Given the description of an element on the screen output the (x, y) to click on. 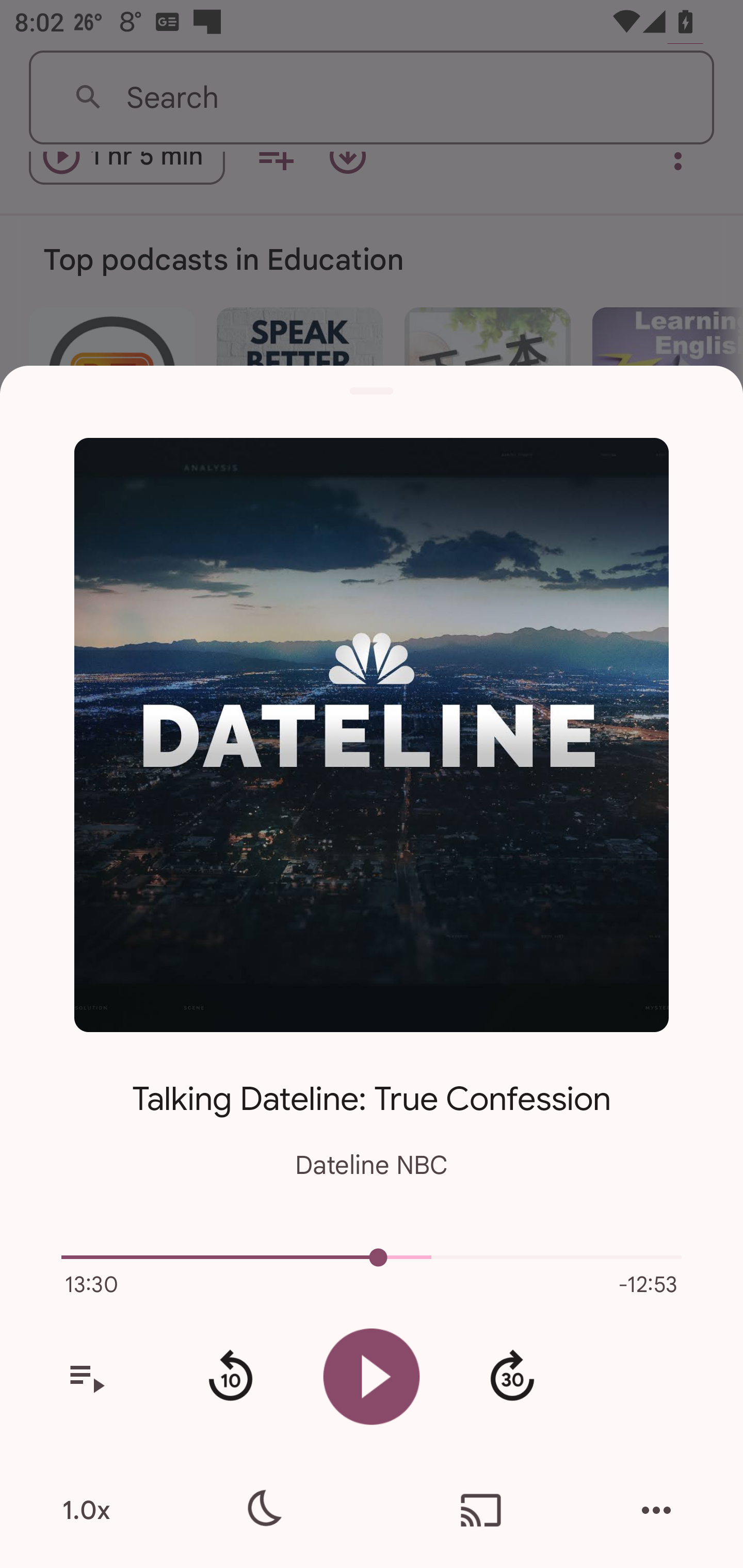
Open the show page for Dateline NBC (371, 734)
Talking Dateline: True Confession Dateline NBC (371, 1115)
5115.0 Current episode playback (371, 1257)
Play (371, 1376)
View your queue (86, 1376)
Rewind 10 seconds (230, 1376)
Fast forward 30 second (511, 1376)
1.0x Playback speed is 1.0. (86, 1510)
Sleep timer settings (261, 1510)
Cast. Disconnected (480, 1510)
More actions (655, 1510)
